Given the description of an element on the screen output the (x, y) to click on. 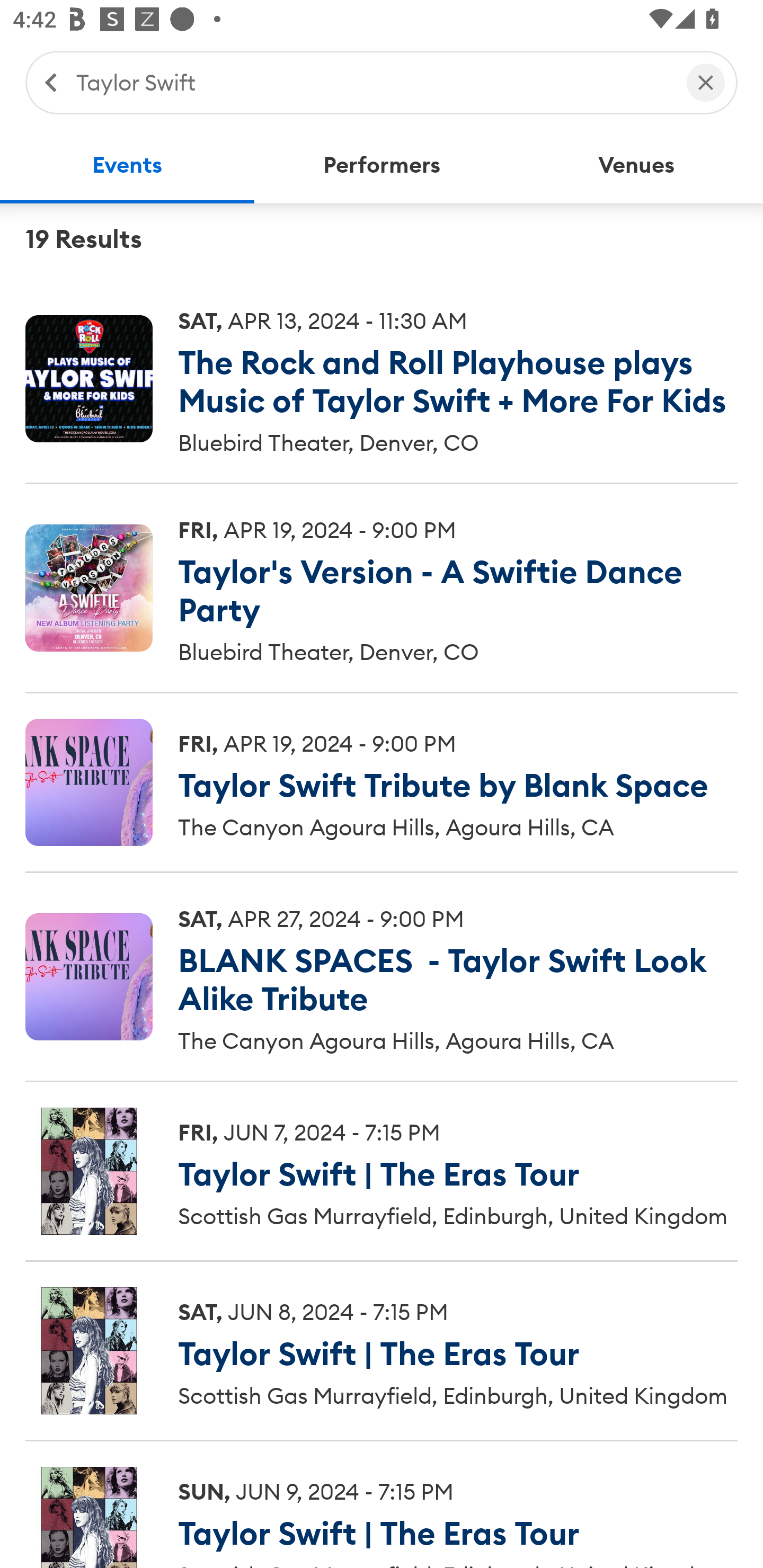
Taylor Swift (371, 81)
Clear Search (705, 81)
Performers (381, 165)
Venues (635, 165)
